Given the description of an element on the screen output the (x, y) to click on. 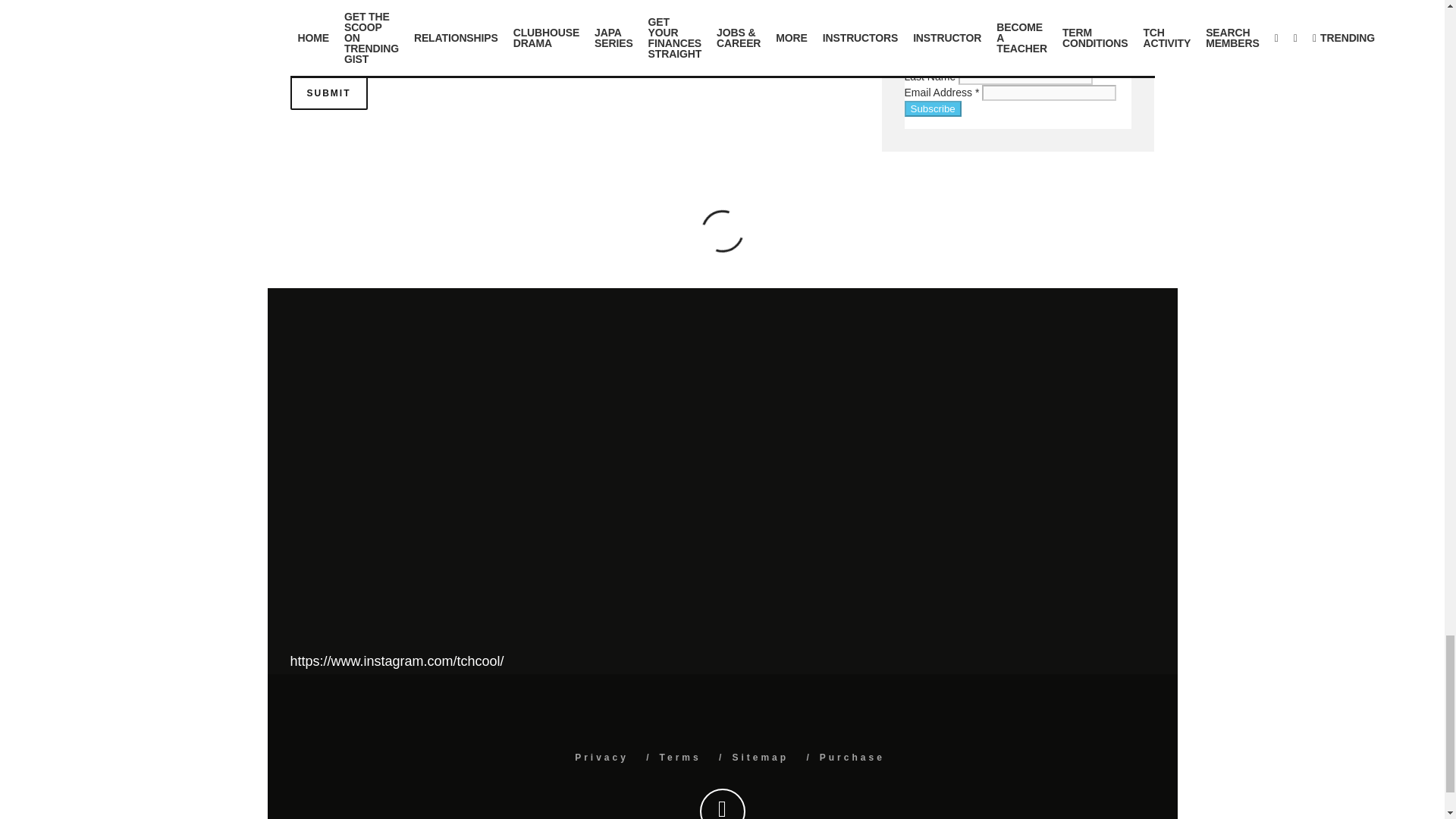
Submit (327, 92)
yes (297, 32)
Subscribe (932, 108)
